Given the description of an element on the screen output the (x, y) to click on. 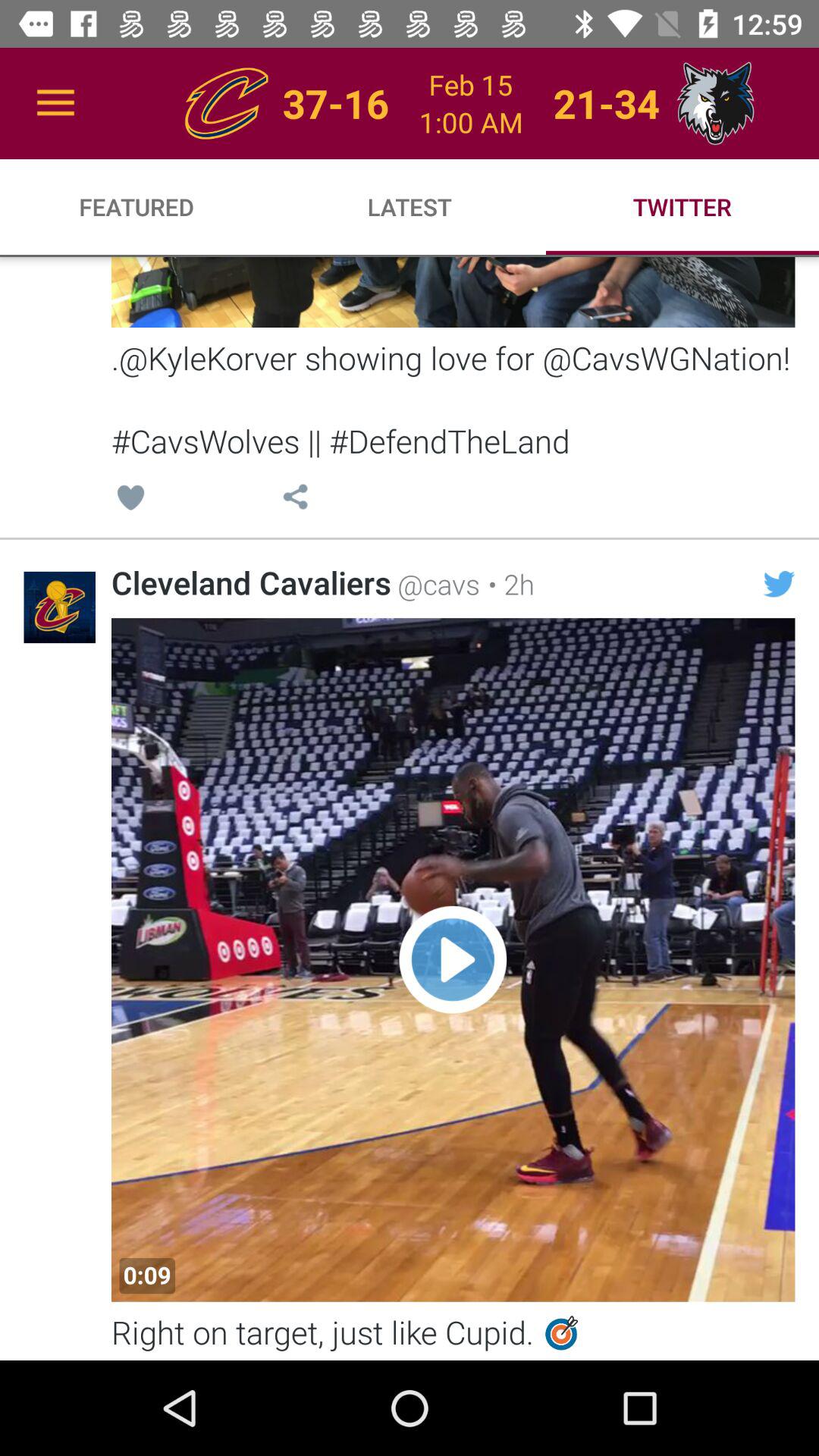
launch the icon to the right of cleveland cavaliers icon (435, 583)
